Given the description of an element on the screen output the (x, y) to click on. 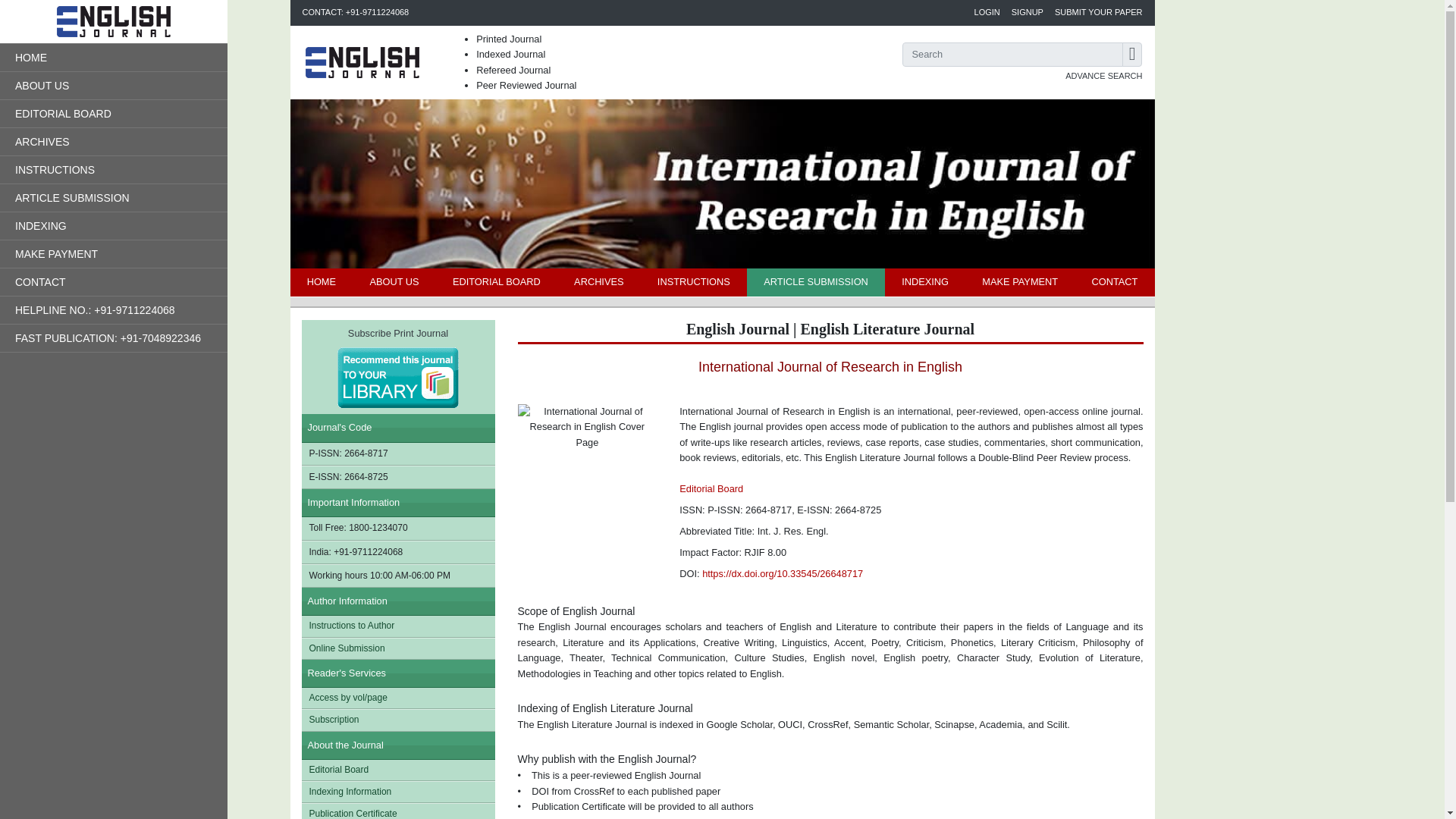
Indexing Information (398, 792)
Subscription (398, 720)
EDITORIAL BOARD (496, 281)
CONTACT (1114, 281)
INDEXING (925, 281)
SIGNUP (1027, 12)
ADVANCE SEARCH (1103, 76)
International Journal of Research in English Logo (362, 61)
ARCHIVES (598, 281)
